Given the description of an element on the screen output the (x, y) to click on. 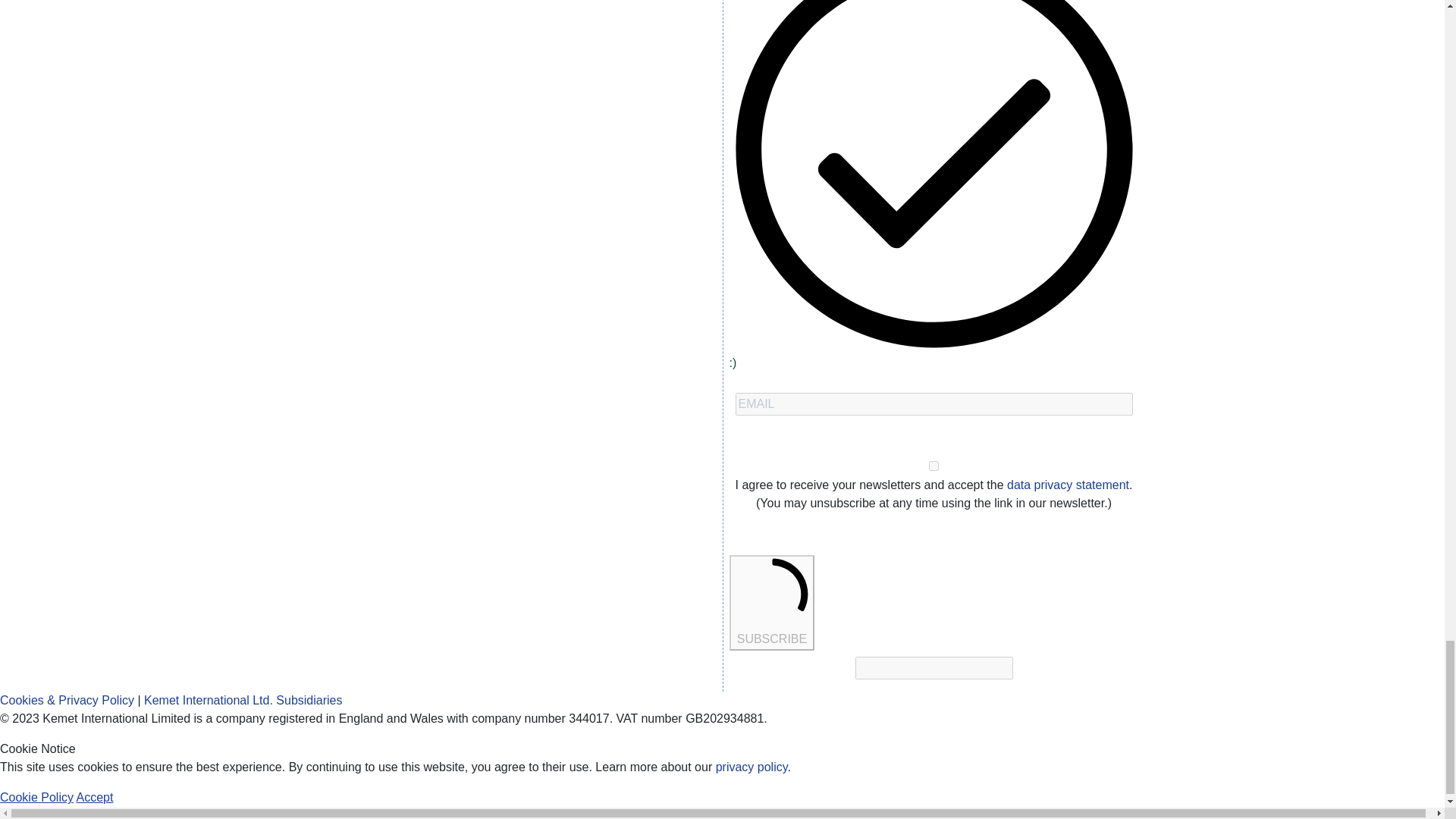
1 (933, 465)
